Given the description of an element on the screen output the (x, y) to click on. 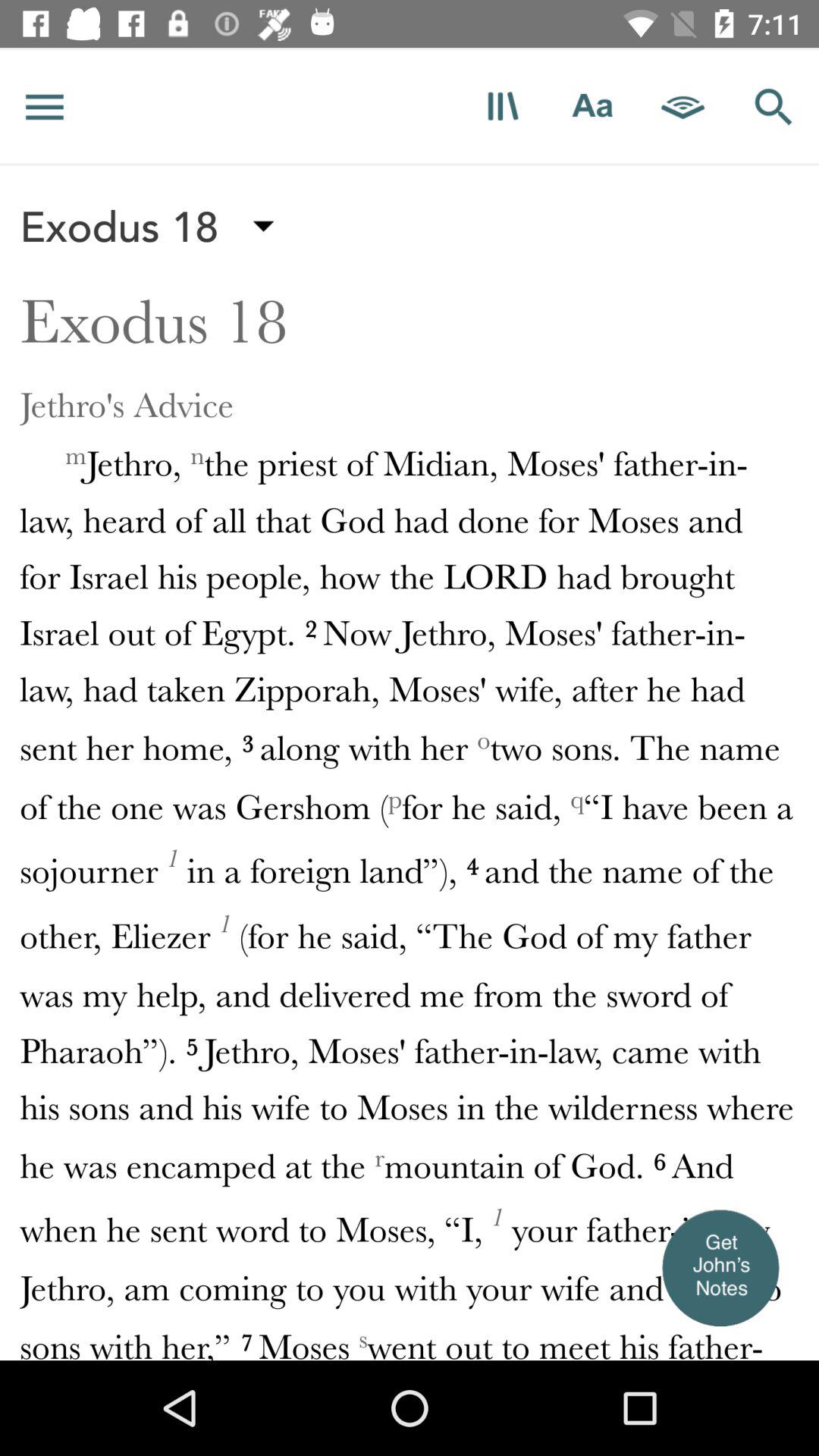
site index (45, 106)
